Given the description of an element on the screen output the (x, y) to click on. 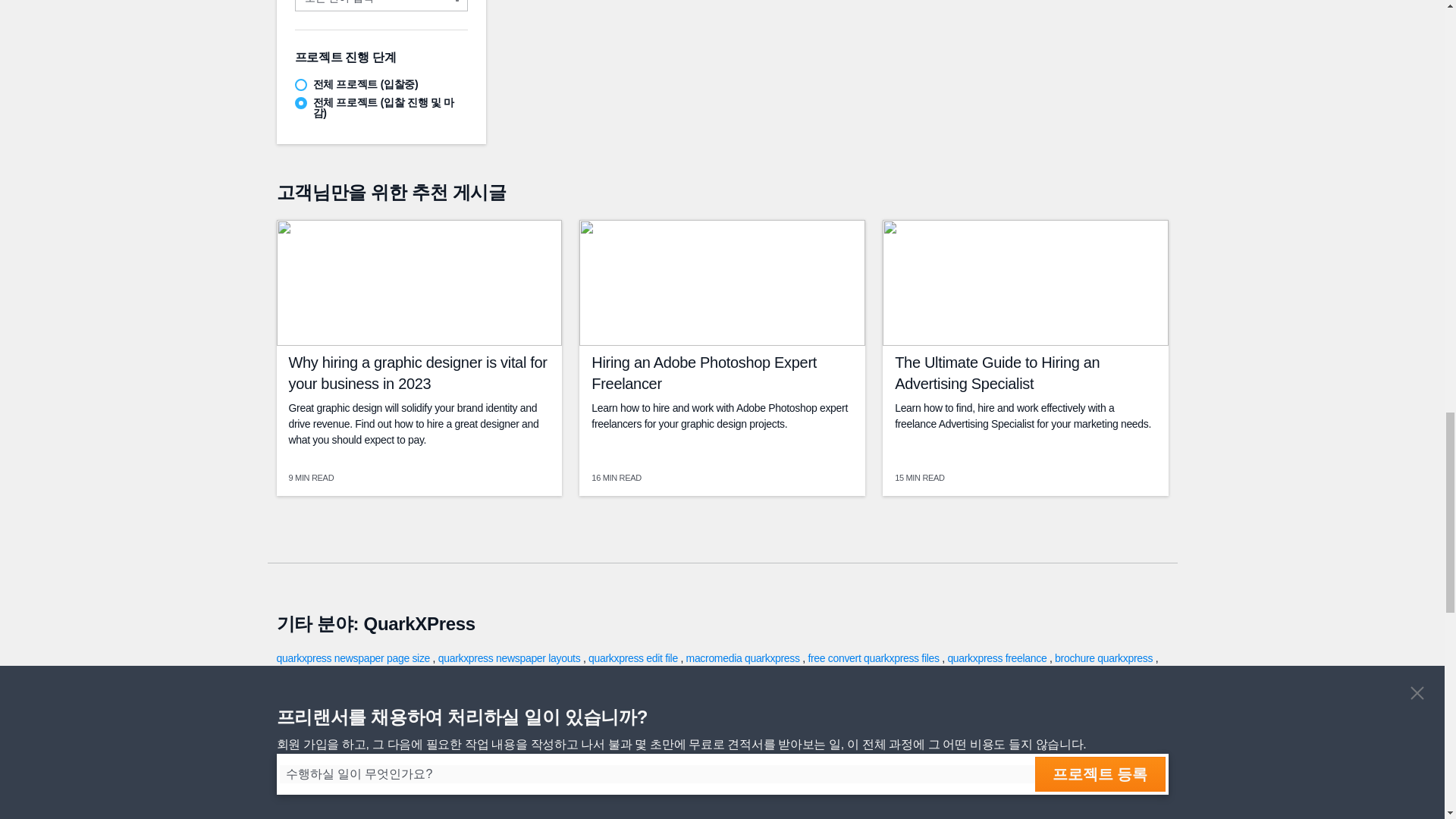
quarkxpress sample projects (341, 673)
indesign quarkxpress users (860, 673)
quarkxpress newspaper layouts (510, 657)
Hiring an Adobe Photoshop Expert Freelancer (703, 372)
free convert quarkxpress files (875, 657)
macromedia quarkxpress (744, 657)
quarkxpress freelance (998, 657)
making newspaper layout quarkxpress (704, 673)
quarkxpress newspaper page size (354, 657)
brochure quarkxpress (1105, 657)
The Ultimate Guide to Hiring an Advertising Specialist (997, 372)
paginator jobs bangalore using quarkxpress (512, 673)
quarkxpress magazine (980, 673)
quarkxpress edit file (633, 657)
